Given the description of an element on the screen output the (x, y) to click on. 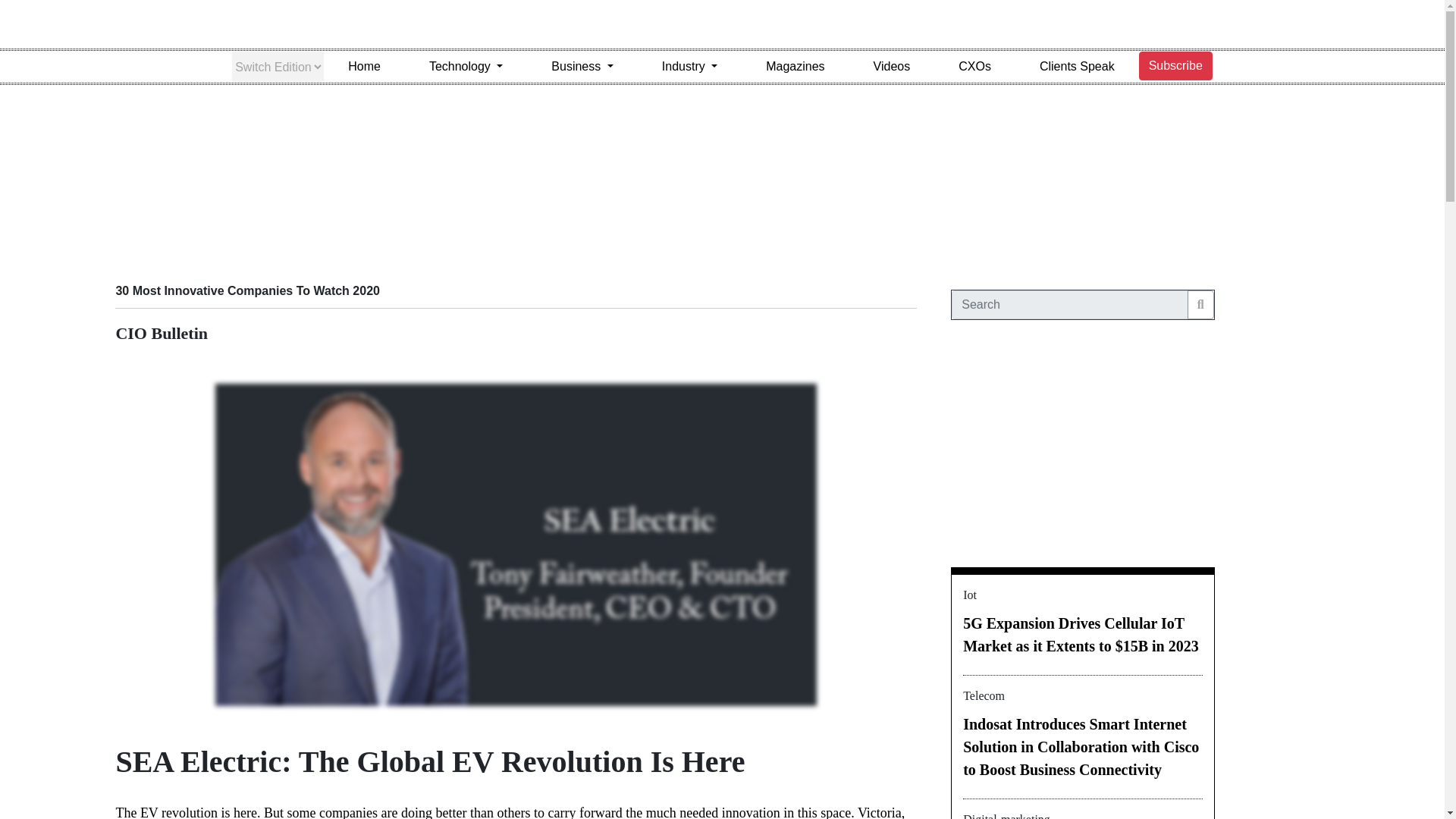
Technology (465, 66)
Home (363, 66)
Industry (689, 66)
Business (582, 66)
